Given the description of an element on the screen output the (x, y) to click on. 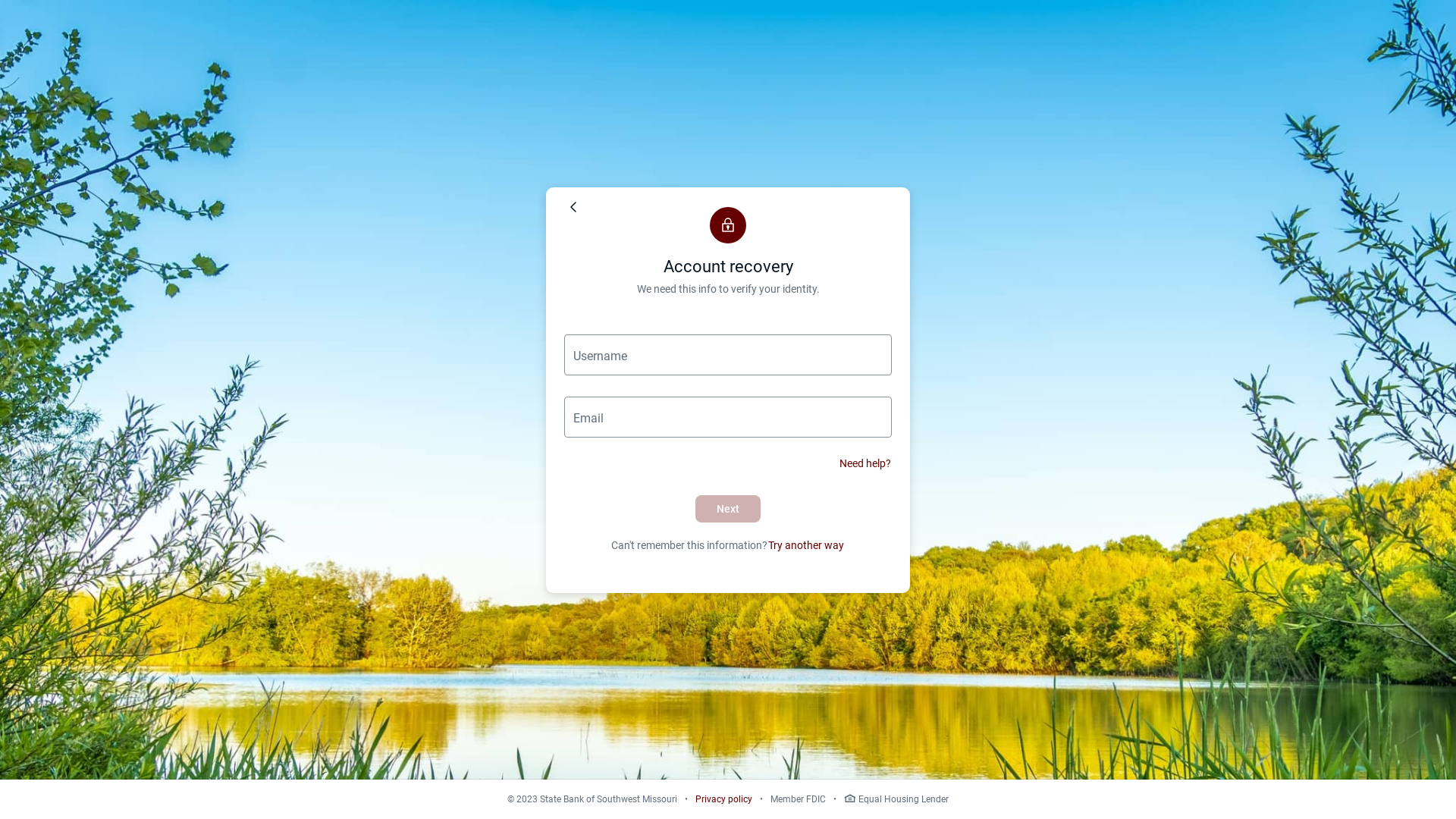
Email Element type: hover (727, 415)
Username Element type: hover (727, 353)
